Given the description of an element on the screen output the (x, y) to click on. 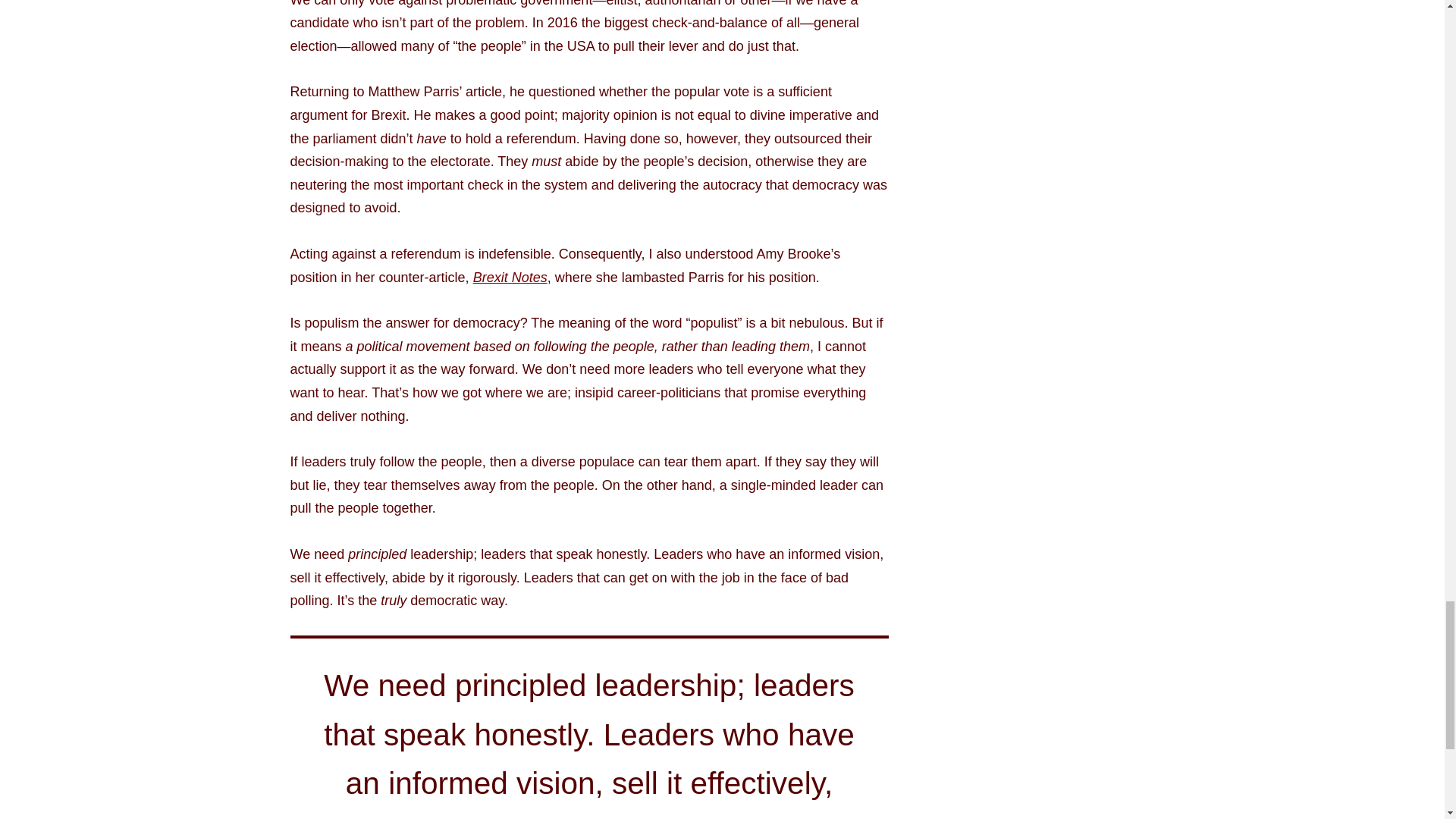
Brexit Notes (510, 277)
